Given the description of an element on the screen output the (x, y) to click on. 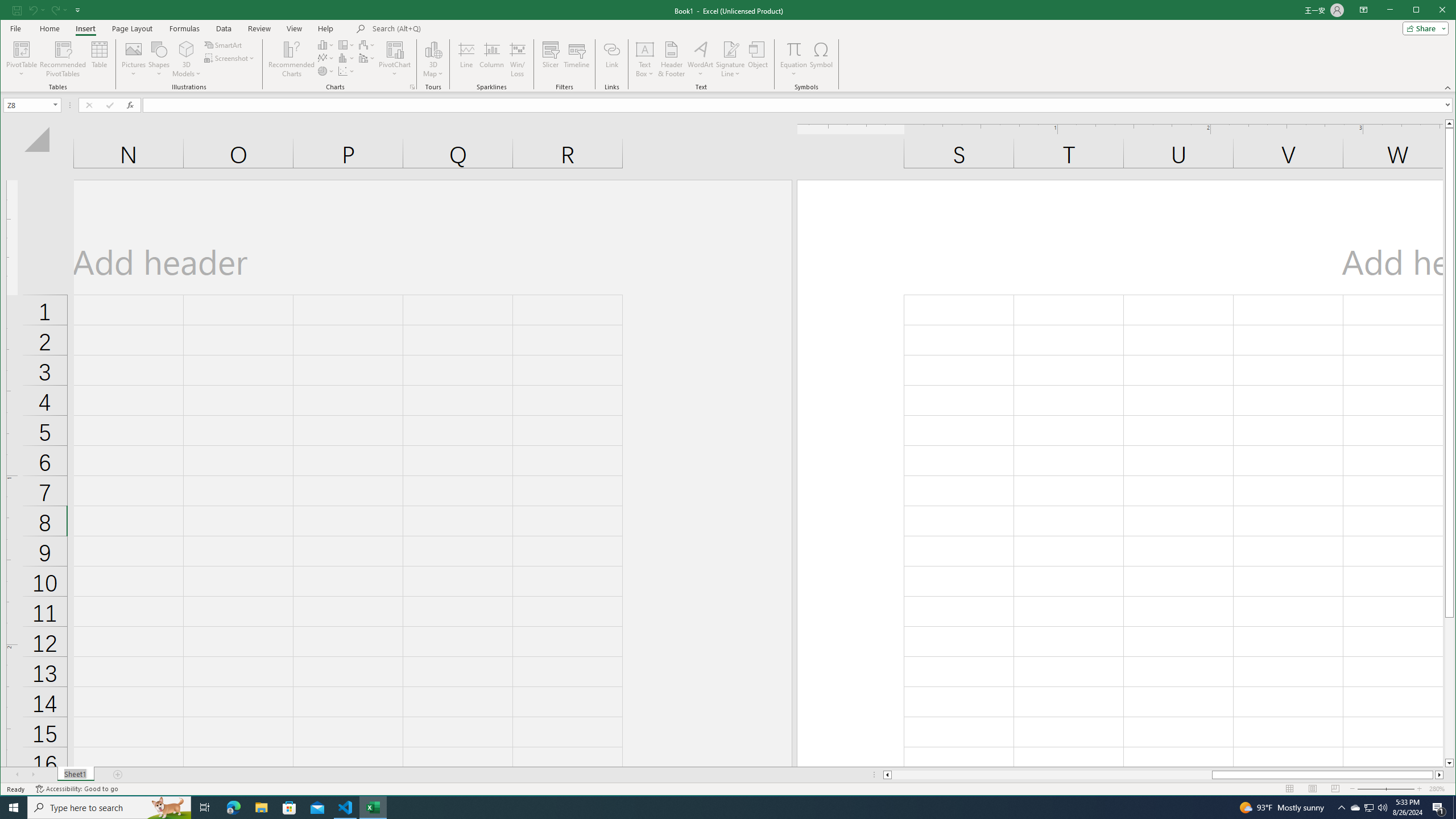
Slicer... (550, 59)
Search highlights icon opens search home window (167, 807)
Recommended Charts (411, 86)
Sheet Tab (75, 774)
Table (99, 59)
Action Center, 1 new notification (1439, 807)
File Explorer (261, 807)
User Promoted Notification Area (1368, 807)
WordArt (699, 59)
